Given the description of an element on the screen output the (x, y) to click on. 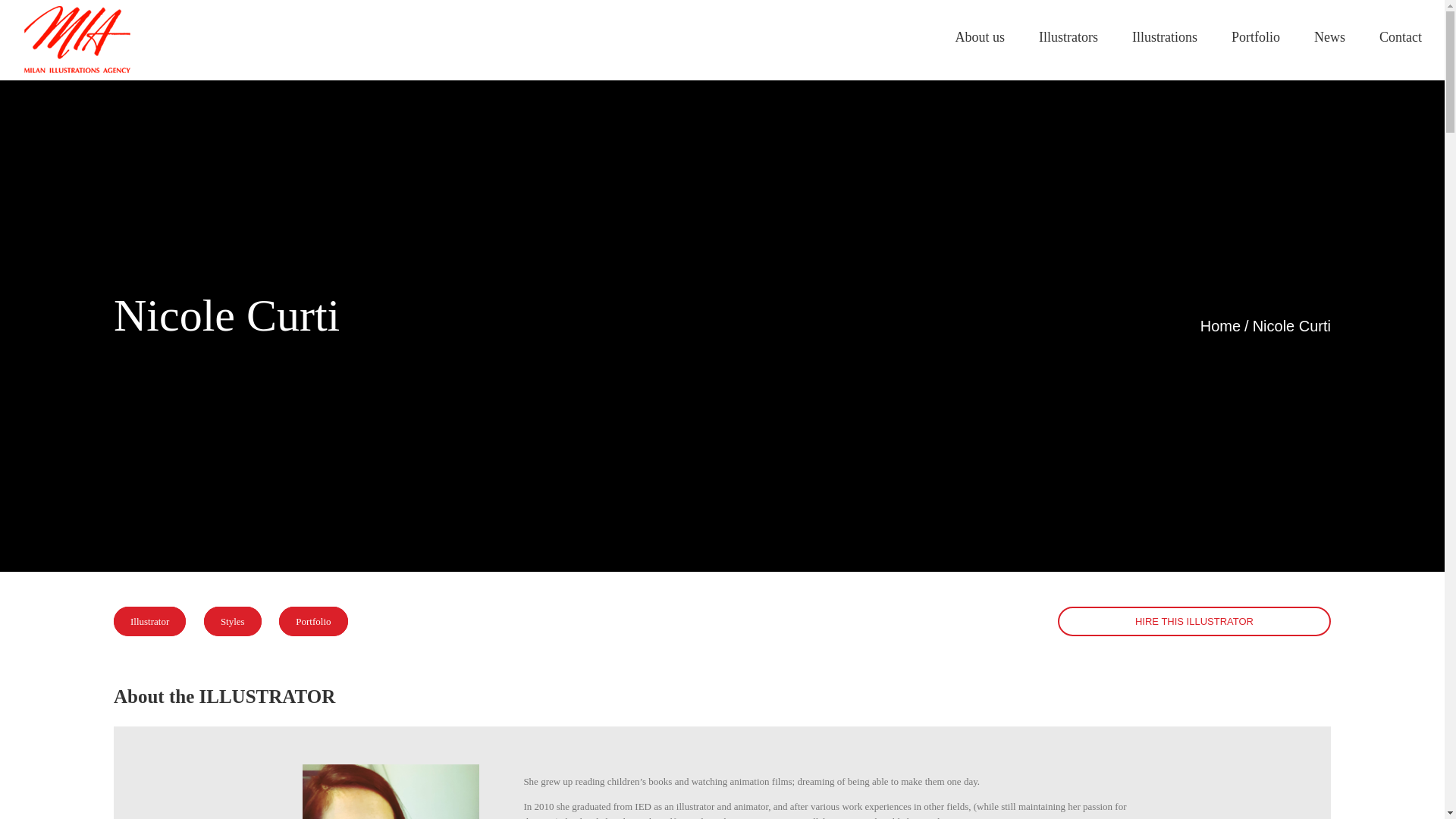
HIRE THIS ILLUSTRATOR (1194, 621)
Portfolio (313, 621)
Illustrations (1164, 36)
Styles (232, 621)
Illustrator (149, 621)
Home (1219, 325)
